Given the description of an element on the screen output the (x, y) to click on. 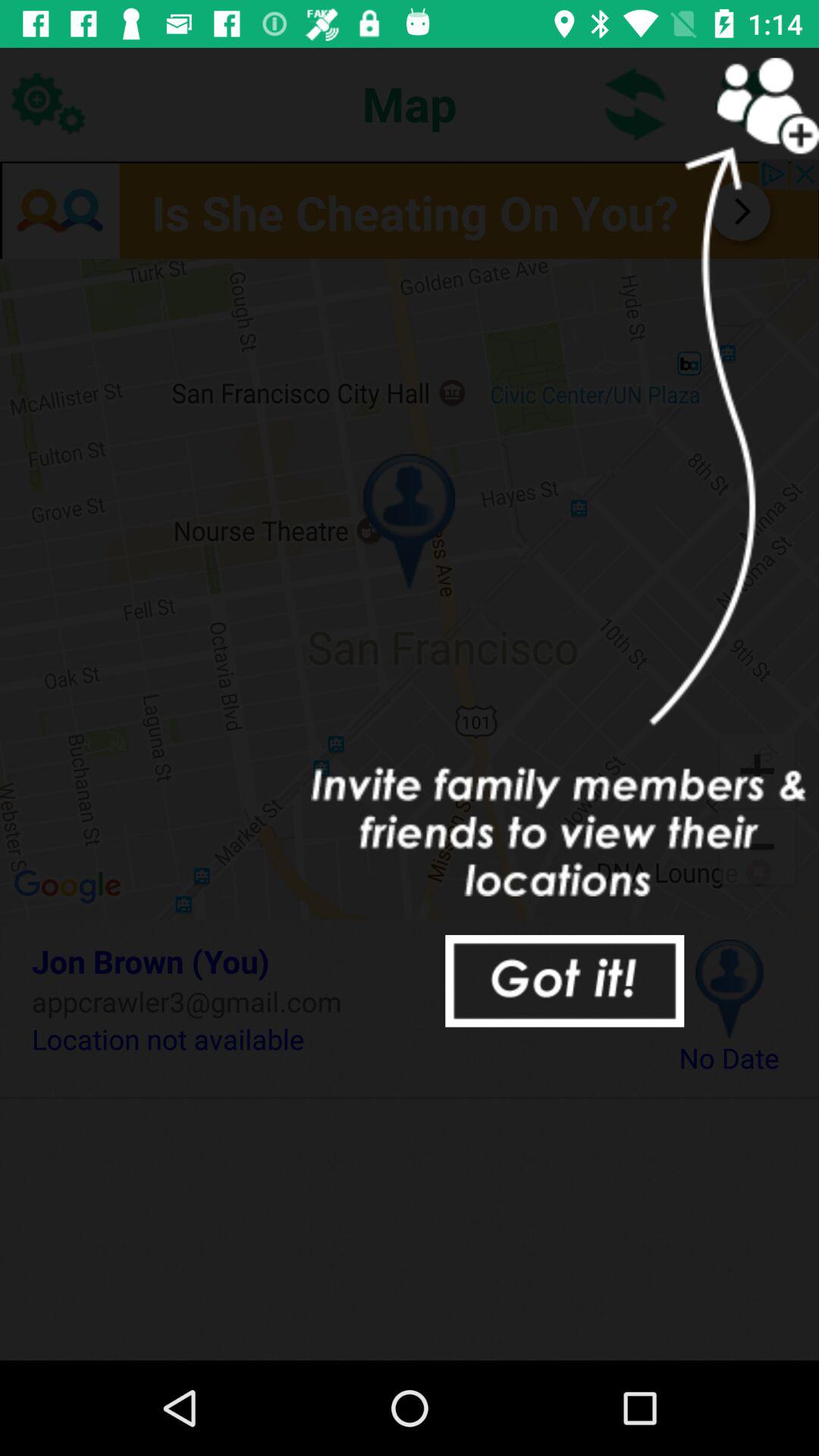
refresh page (635, 103)
